Given the description of an element on the screen output the (x, y) to click on. 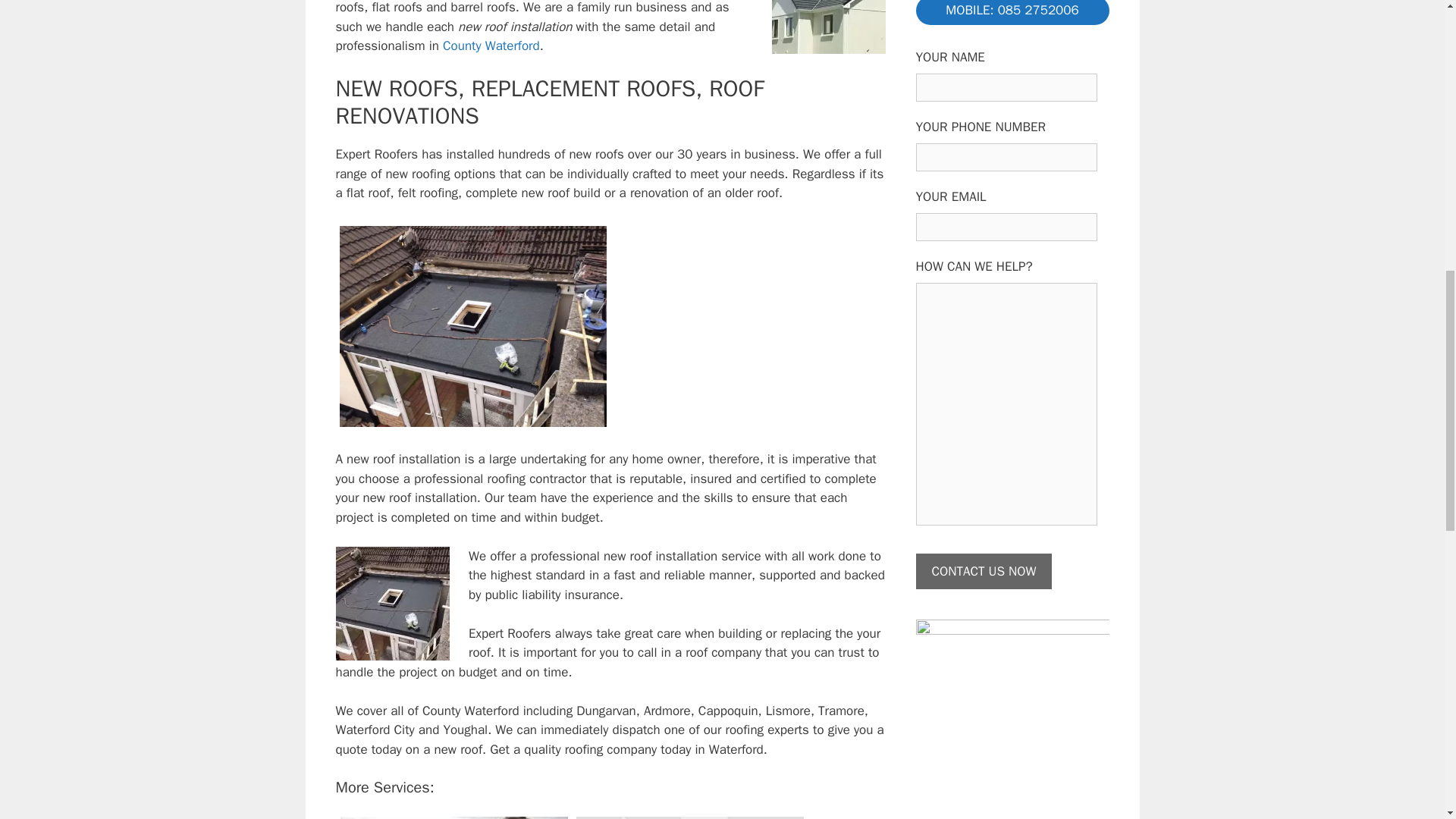
County Waterford (491, 45)
CONTACT US NOW (983, 571)
